Given the description of an element on the screen output the (x, y) to click on. 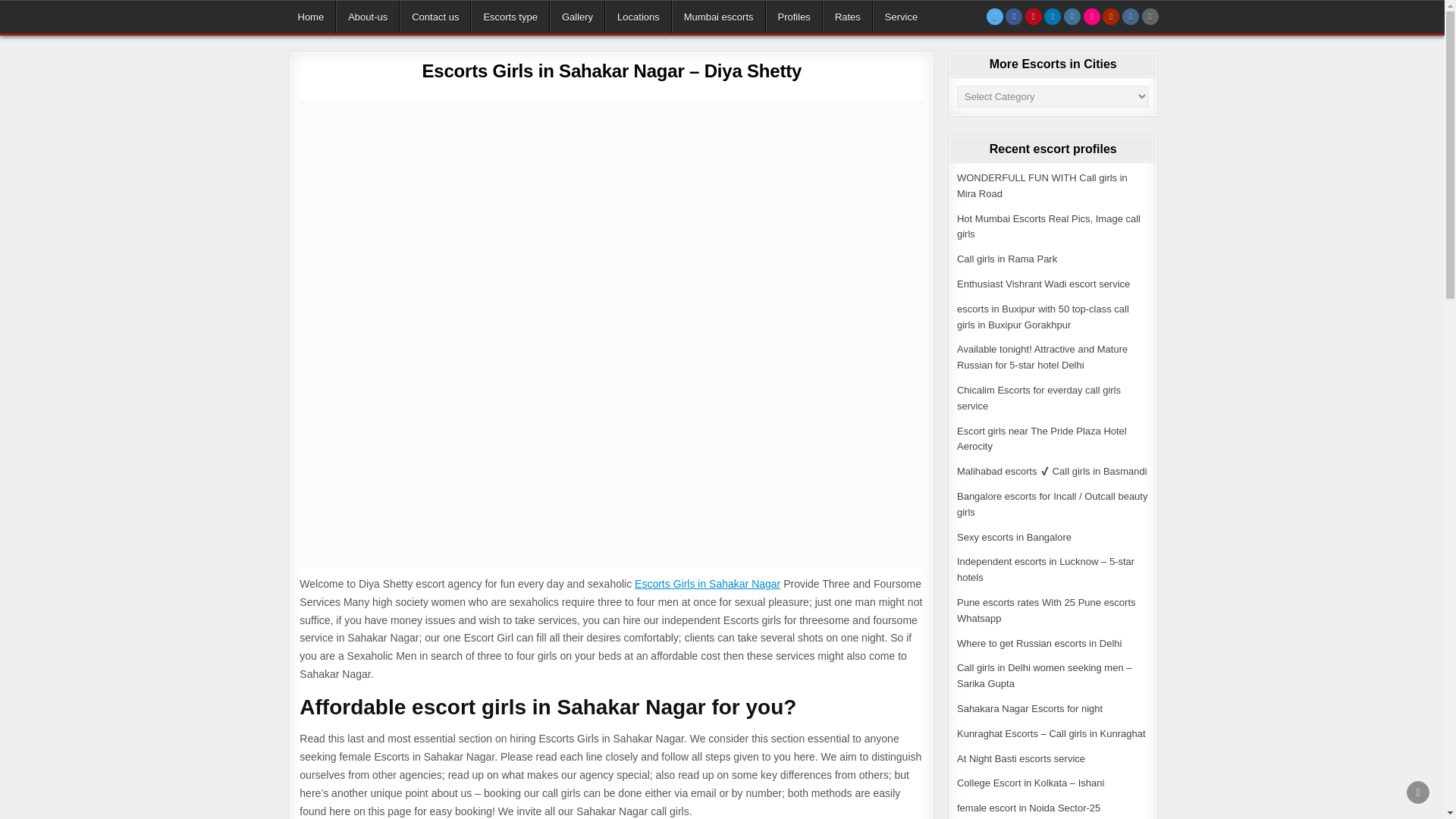
Locations (638, 16)
Contact us (434, 16)
About-us (367, 16)
Escorts type (510, 16)
Home (311, 16)
Escort girls near The Pride Plaza Hotel Aerocity (1041, 438)
Chicalim Escorts for everday call girls service (1038, 397)
Rates (847, 16)
Scroll to Top (1417, 792)
